Given the description of an element on the screen output the (x, y) to click on. 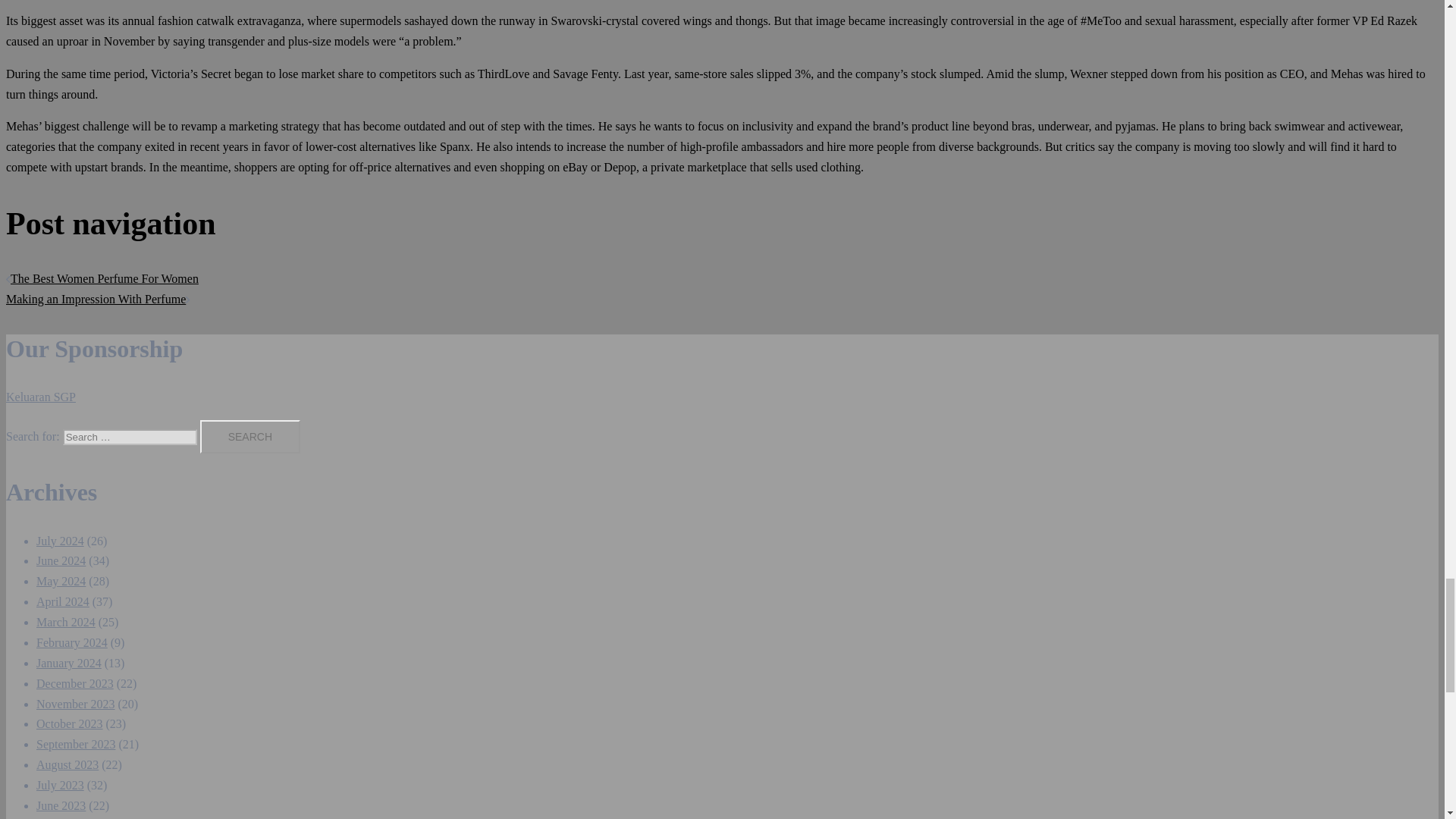
September 2023 (75, 744)
October 2023 (69, 723)
May 2024 (60, 581)
Search (249, 436)
The Best Women Perfume For Women (104, 278)
February 2024 (71, 642)
July 2024 (60, 540)
July 2023 (60, 784)
Keluaran SGP (40, 396)
April 2024 (62, 601)
January 2024 (68, 662)
March 2024 (66, 621)
December 2023 (74, 683)
August 2023 (67, 764)
Search (249, 436)
